Given the description of an element on the screen output the (x, y) to click on. 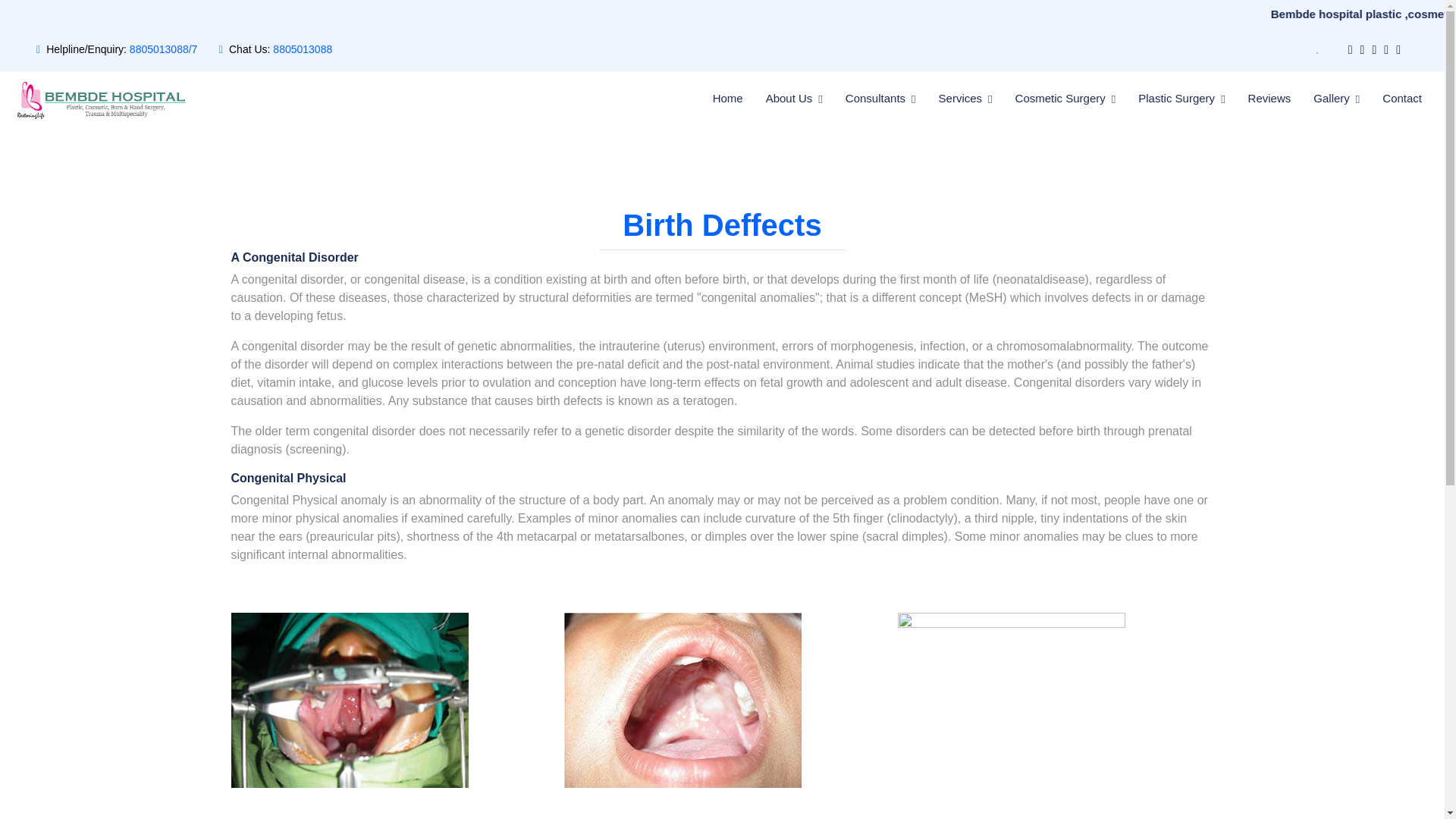
Services (965, 98)
Consultants (880, 98)
About Us (793, 98)
Cosmetic Surgery (1065, 98)
8805013088 (302, 49)
Home (727, 98)
